Given the description of an element on the screen output the (x, y) to click on. 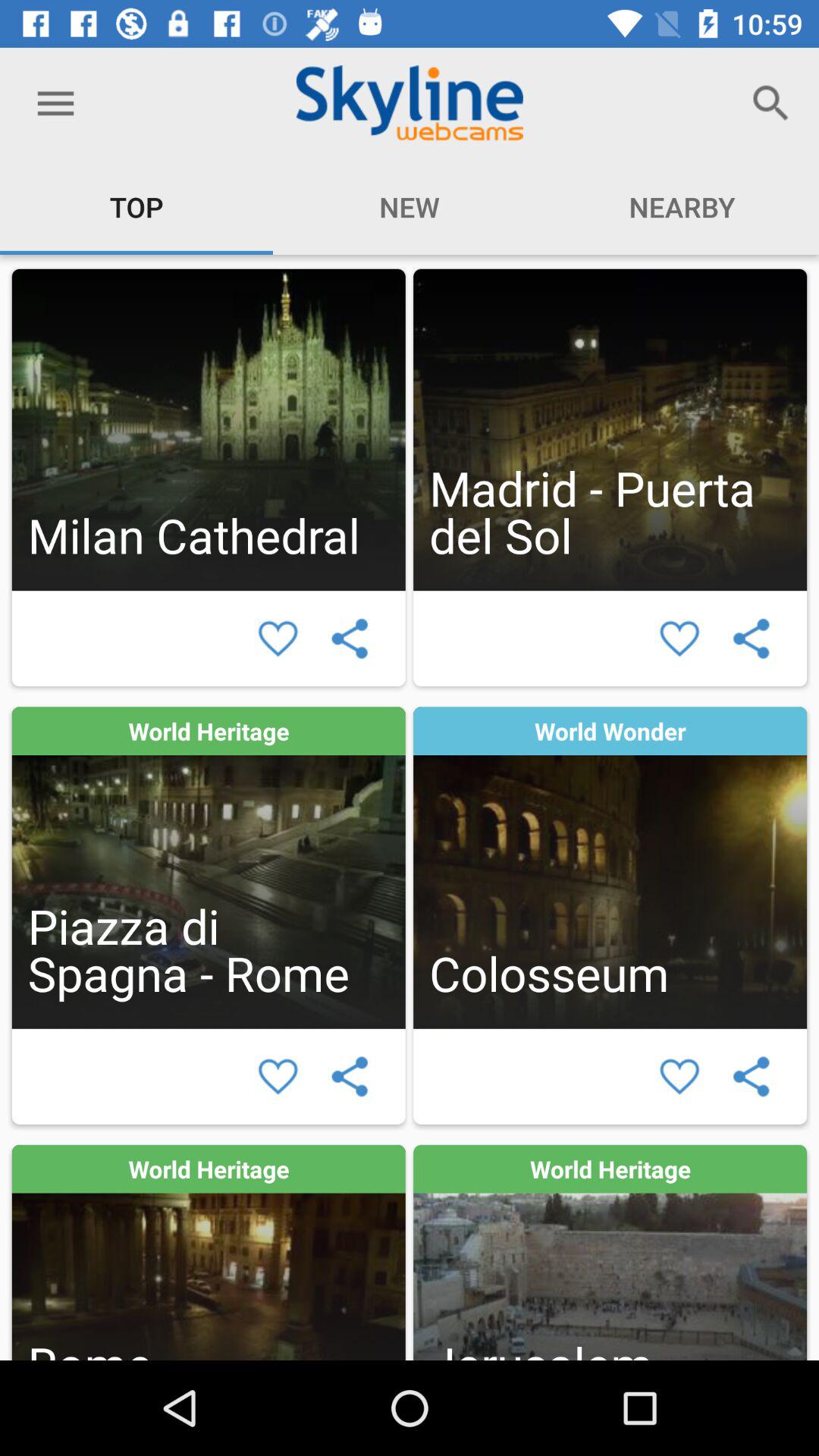
favorite this selection like this selection (679, 638)
